Given the description of an element on the screen output the (x, y) to click on. 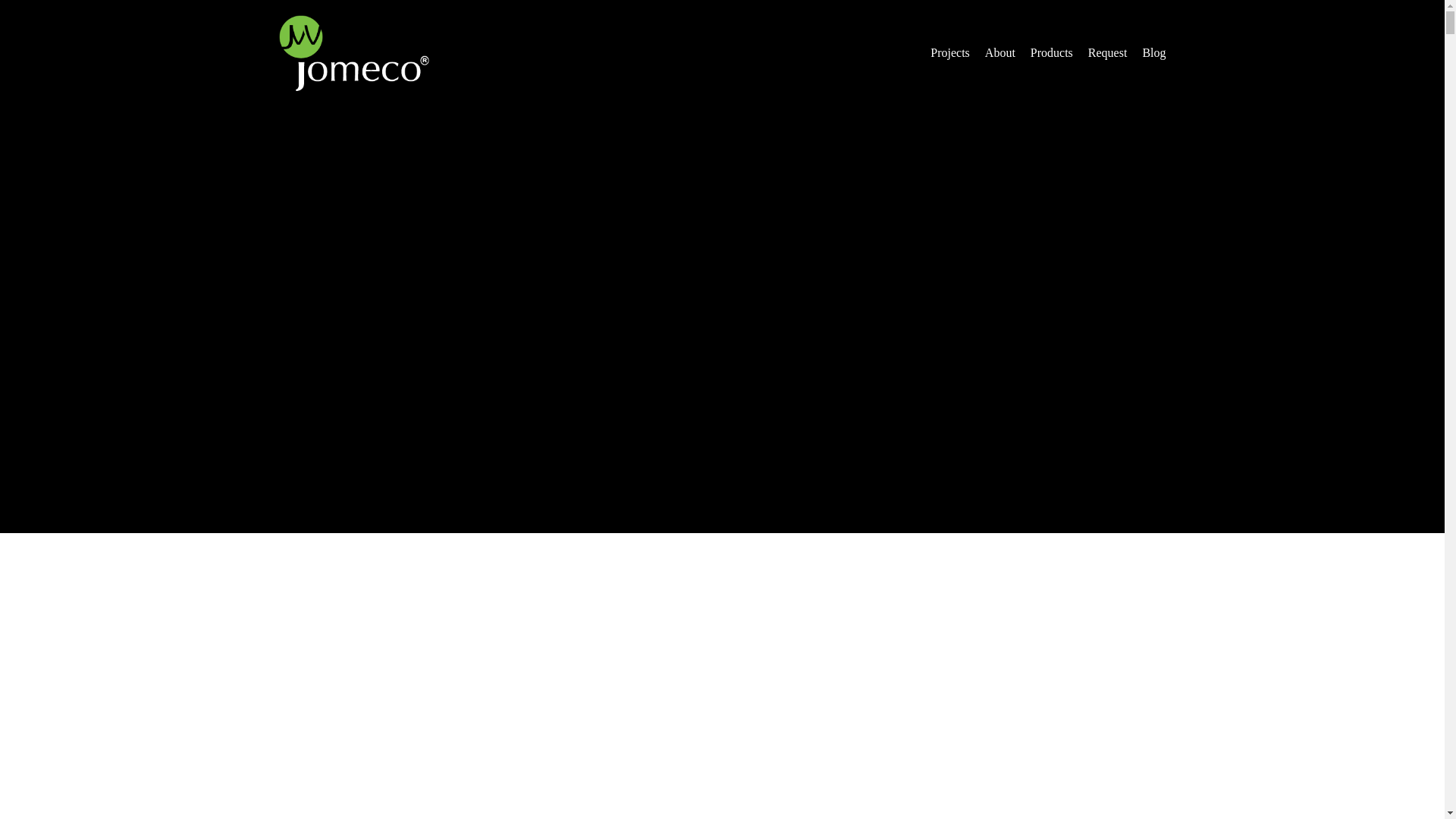
Request (1107, 53)
Products (1051, 53)
Blog (1152, 53)
Projects (950, 53)
About (1000, 53)
